Given the description of an element on the screen output the (x, y) to click on. 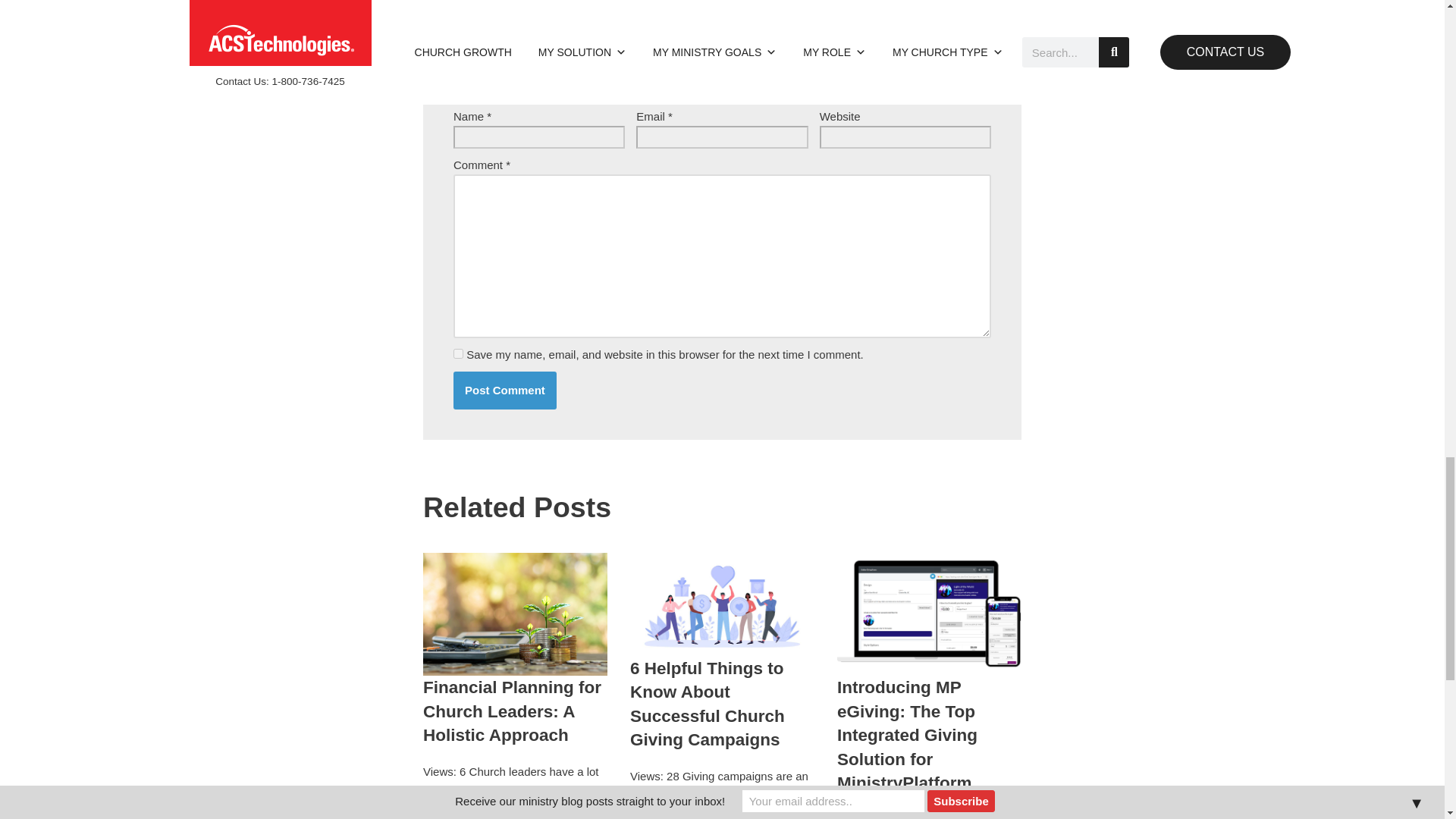
yes (457, 352)
Post Comment (504, 389)
